Given the description of an element on the screen output the (x, y) to click on. 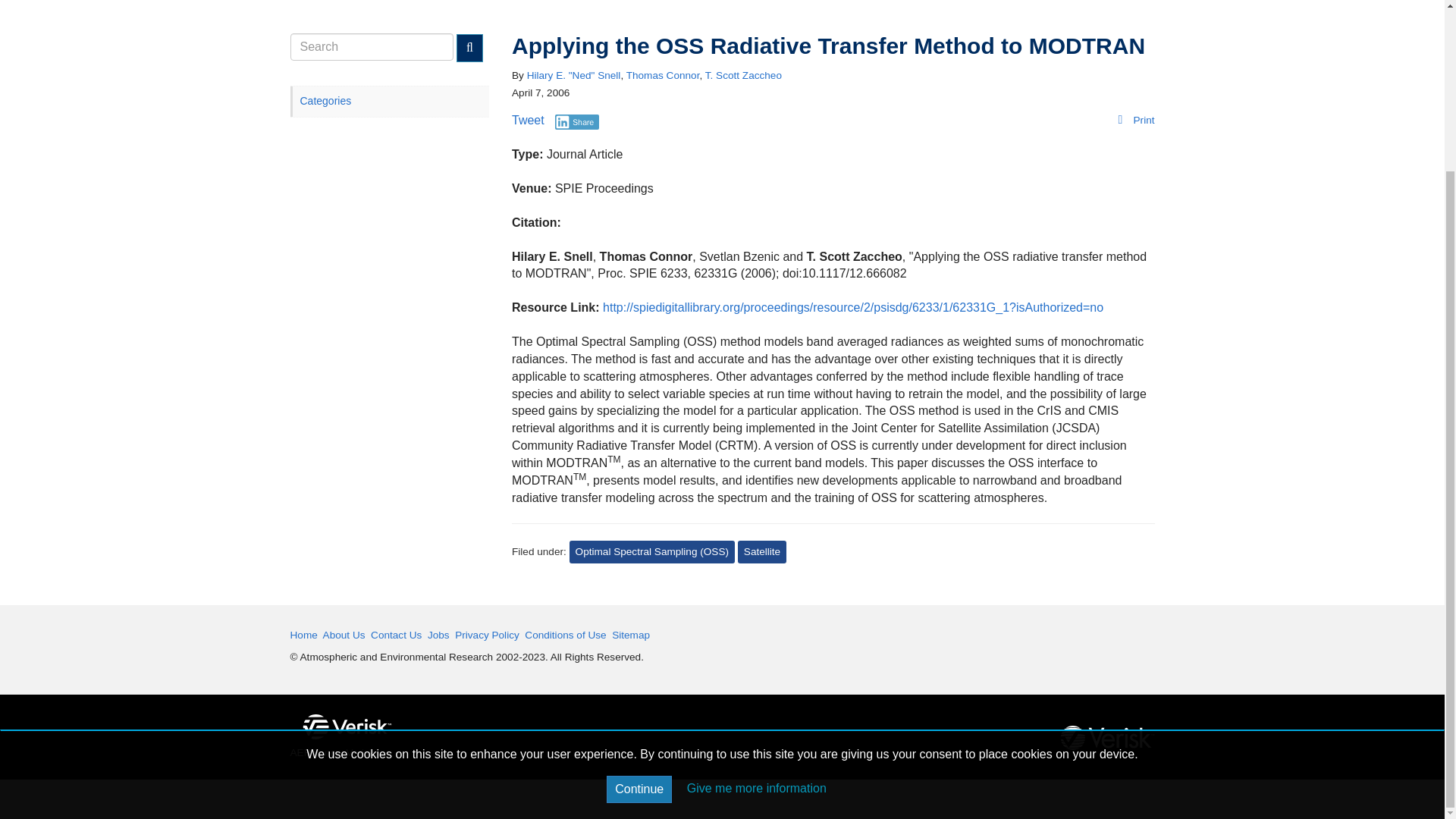
Contact Us (396, 634)
About Us (344, 634)
Sitemap (630, 634)
search (370, 46)
 Conditions of Use (564, 634)
Home (303, 634)
